Given the description of an element on the screen output the (x, y) to click on. 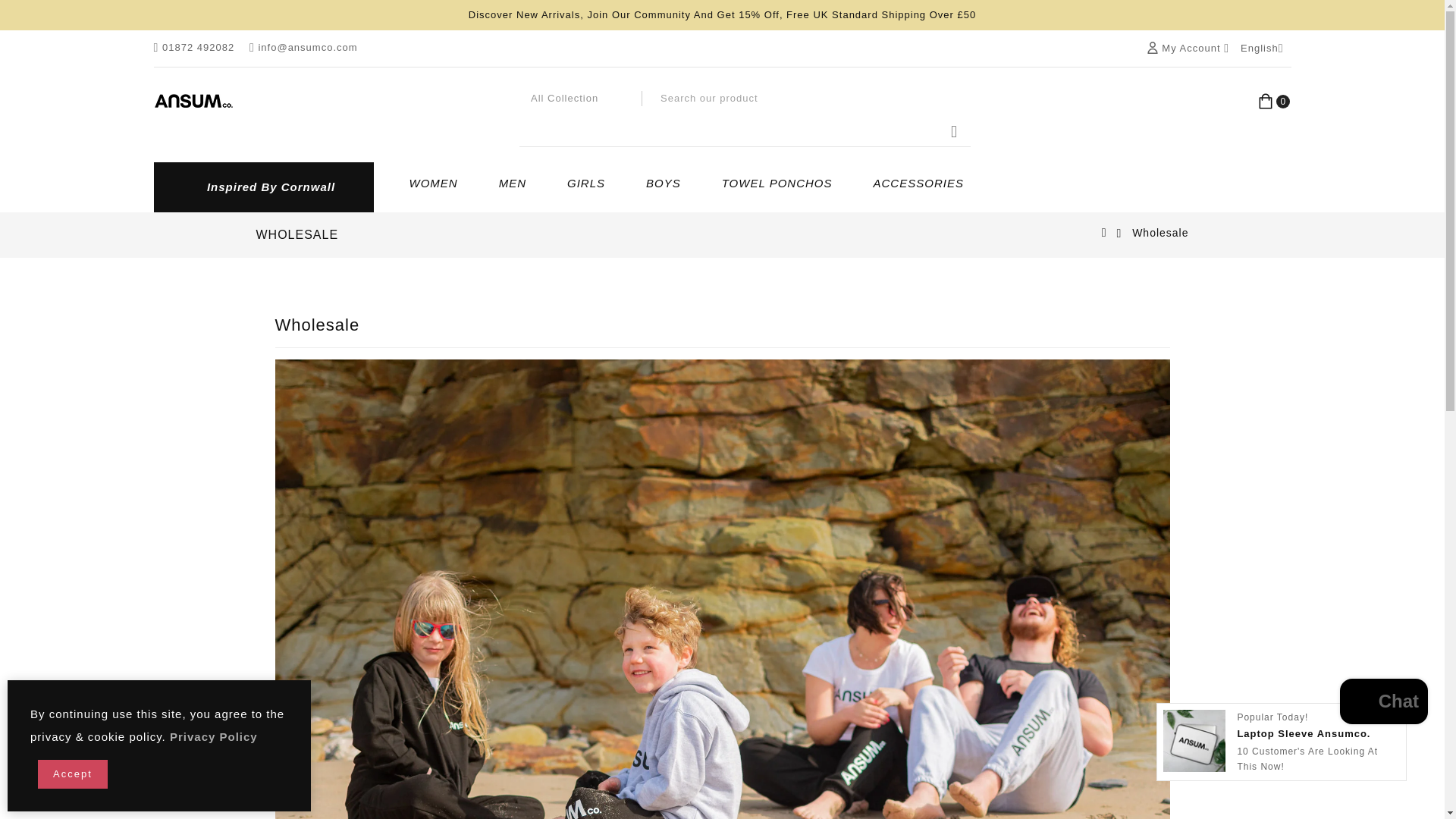
Ansumco. (192, 100)
My Account (1187, 48)
BOYS (662, 183)
01872 492082 (193, 48)
TOWEL PONCHOS (776, 183)
ACCESSORIES (918, 183)
English (1261, 48)
MEN (512, 183)
WOMEN (433, 183)
0 (1274, 100)
